Given the description of an element on the screen output the (x, y) to click on. 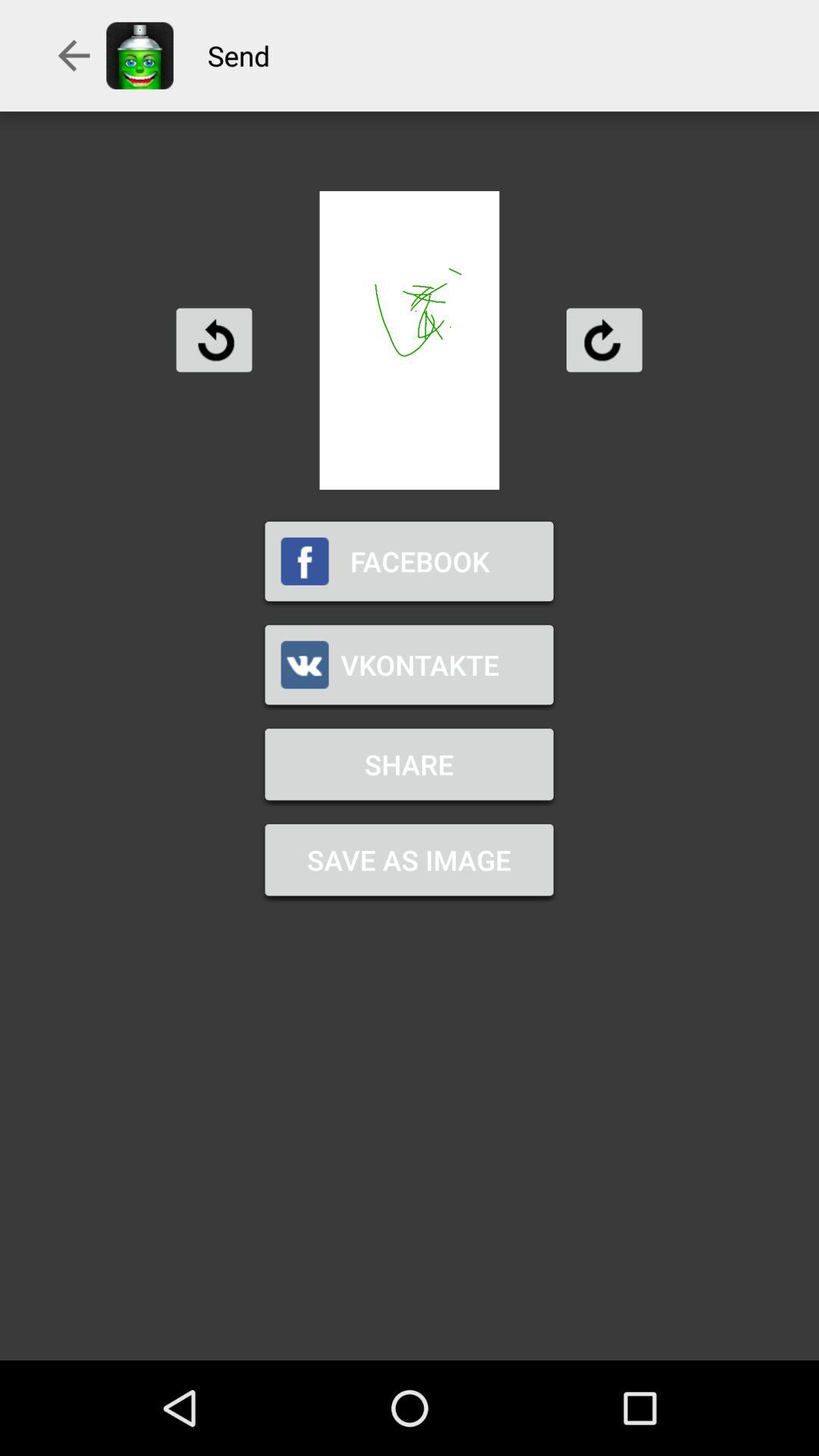
rotate counter clockwise (213, 339)
